Given the description of an element on the screen output the (x, y) to click on. 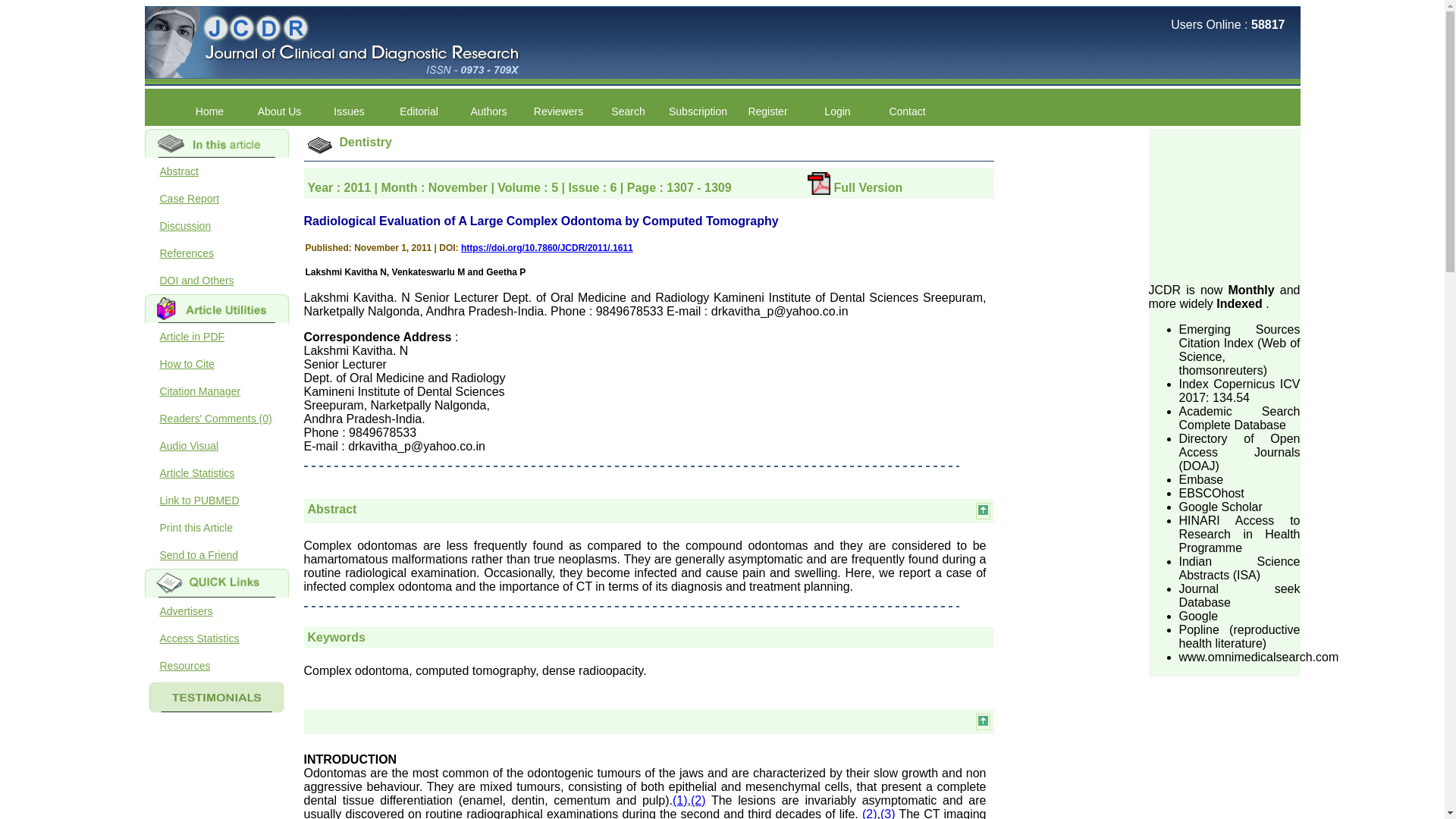
Authors (487, 111)
Issues (349, 111)
Home (209, 111)
Editorial (418, 111)
Reviewers (557, 111)
About Us (279, 111)
